Given the description of an element on the screen output the (x, y) to click on. 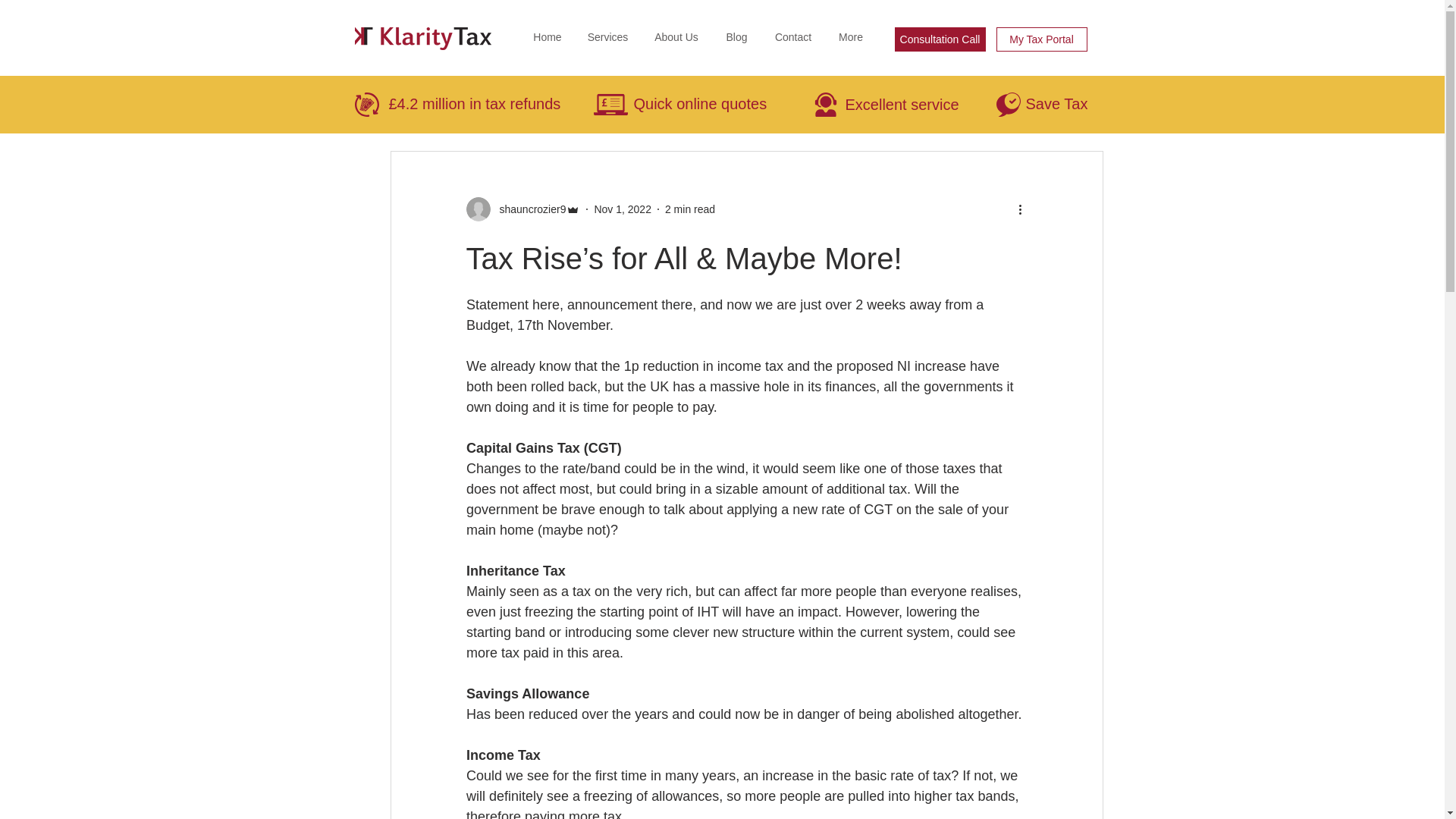
shauncrozier9 (522, 209)
Consultation Call (940, 39)
Blog (737, 36)
About Us (675, 36)
Home (547, 36)
All Posts (394, 105)
My Tax Portal (1041, 39)
Contact (793, 36)
Nov 1, 2022 (622, 209)
2 min read (689, 209)
shauncrozier9 (527, 209)
Services (607, 36)
